Given the description of an element on the screen output the (x, y) to click on. 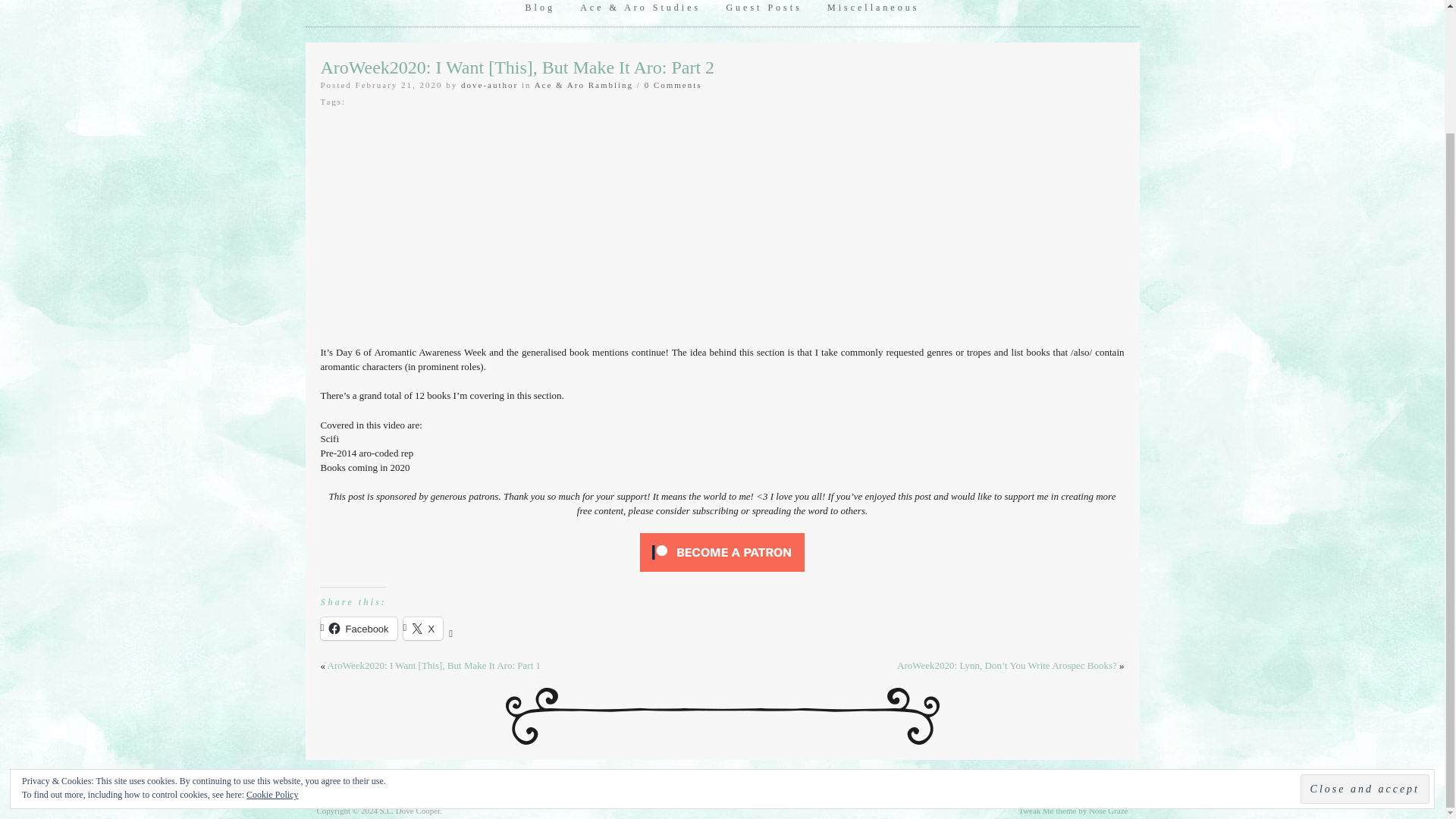
Close and accept (1364, 641)
Miscellaneous (872, 13)
Nose Graze (1108, 809)
Facebook (358, 628)
X (423, 628)
dove-author (489, 84)
Tweak Me theme (1046, 809)
0 Comments (673, 84)
Close and accept (1364, 641)
Click to share on Facebook (358, 628)
Click to share on X (423, 628)
Blog (539, 13)
Guest Posts (763, 13)
Cookie Policy (272, 646)
